Given the description of an element on the screen output the (x, y) to click on. 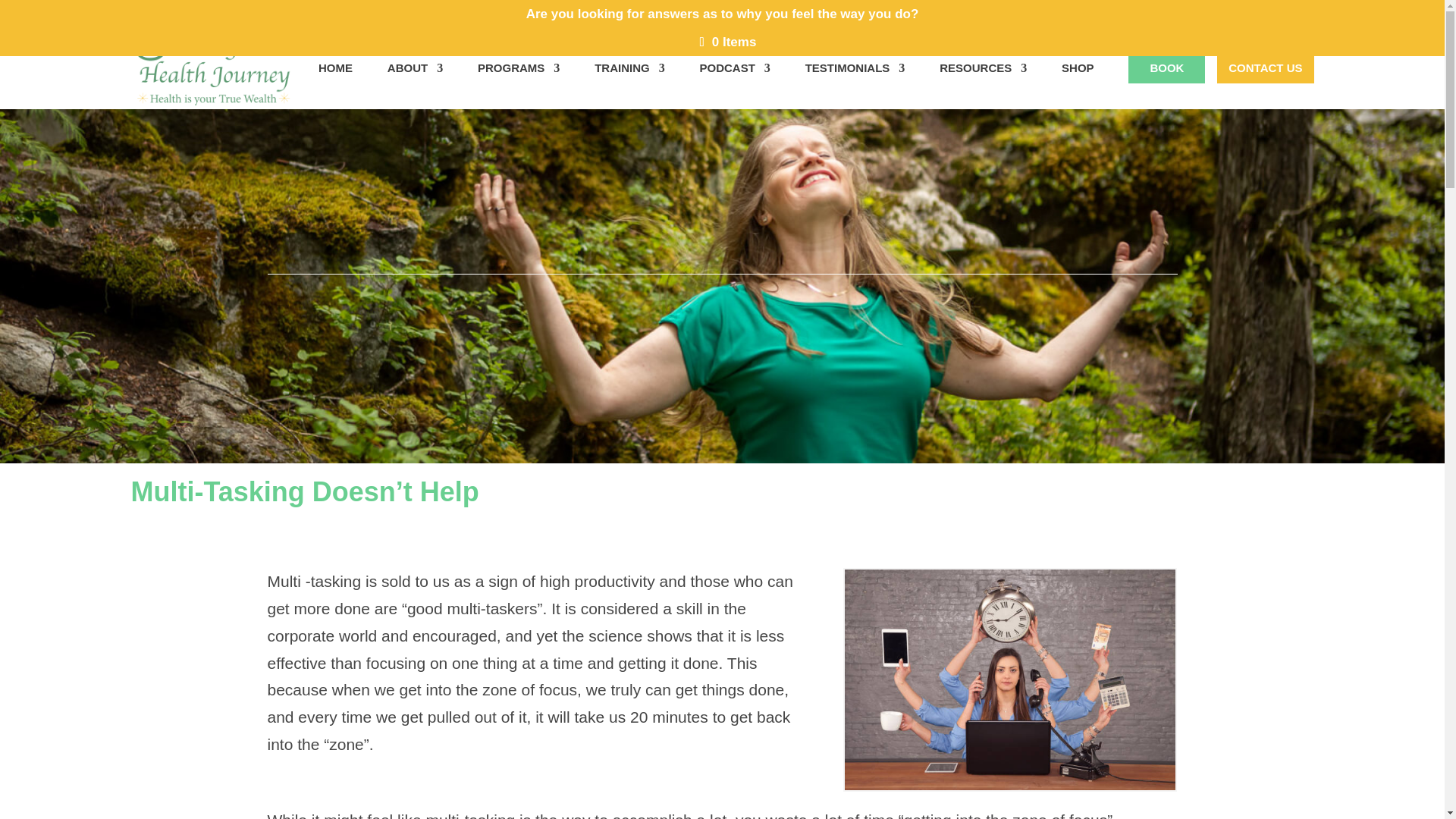
PROGRAMS (518, 85)
TESTIMONIALS (855, 85)
TRAINING (629, 85)
ABOUT (414, 85)
Multi-task (1009, 679)
0 Items (728, 41)
RESOURCES (982, 85)
PODCAST (734, 85)
